Given the description of an element on the screen output the (x, y) to click on. 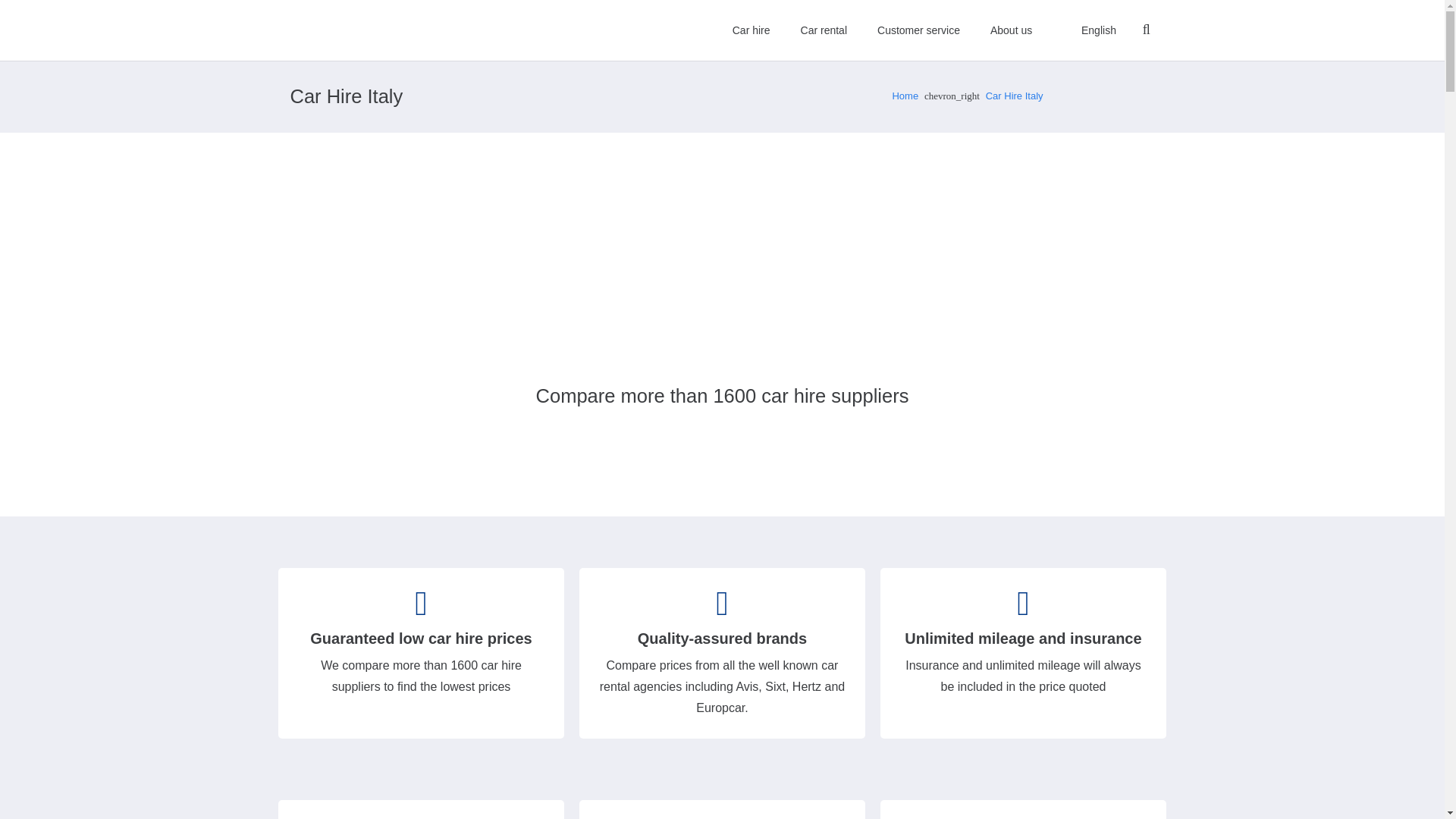
Customer service (918, 30)
Car hire (751, 30)
About us (1010, 30)
English (1088, 30)
Car Hire Italy (1014, 95)
Home (904, 95)
English (1088, 30)
Car rental (823, 30)
